Given the description of an element on the screen output the (x, y) to click on. 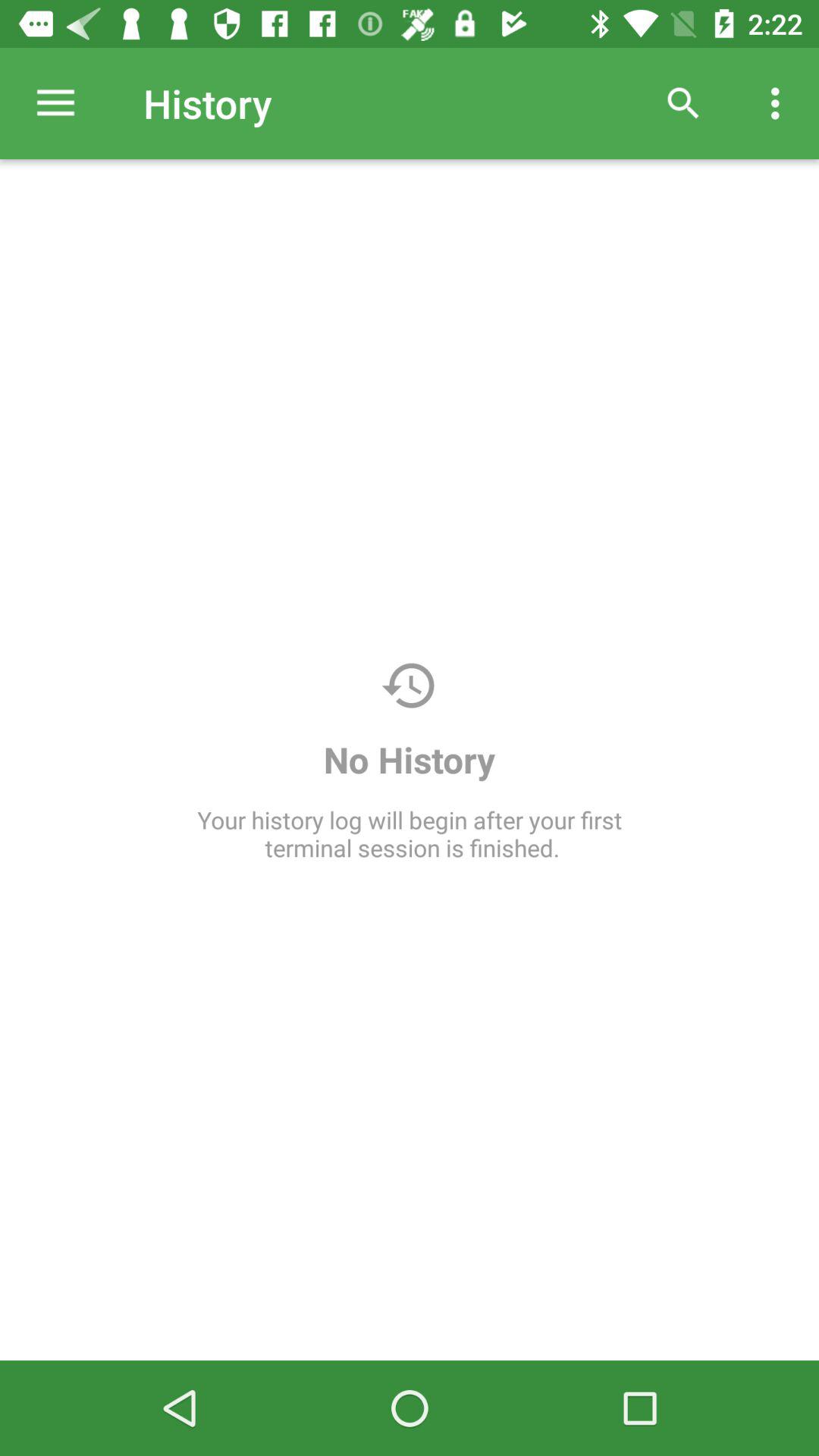
turn off item to the right of the history item (683, 103)
